Given the description of an element on the screen output the (x, y) to click on. 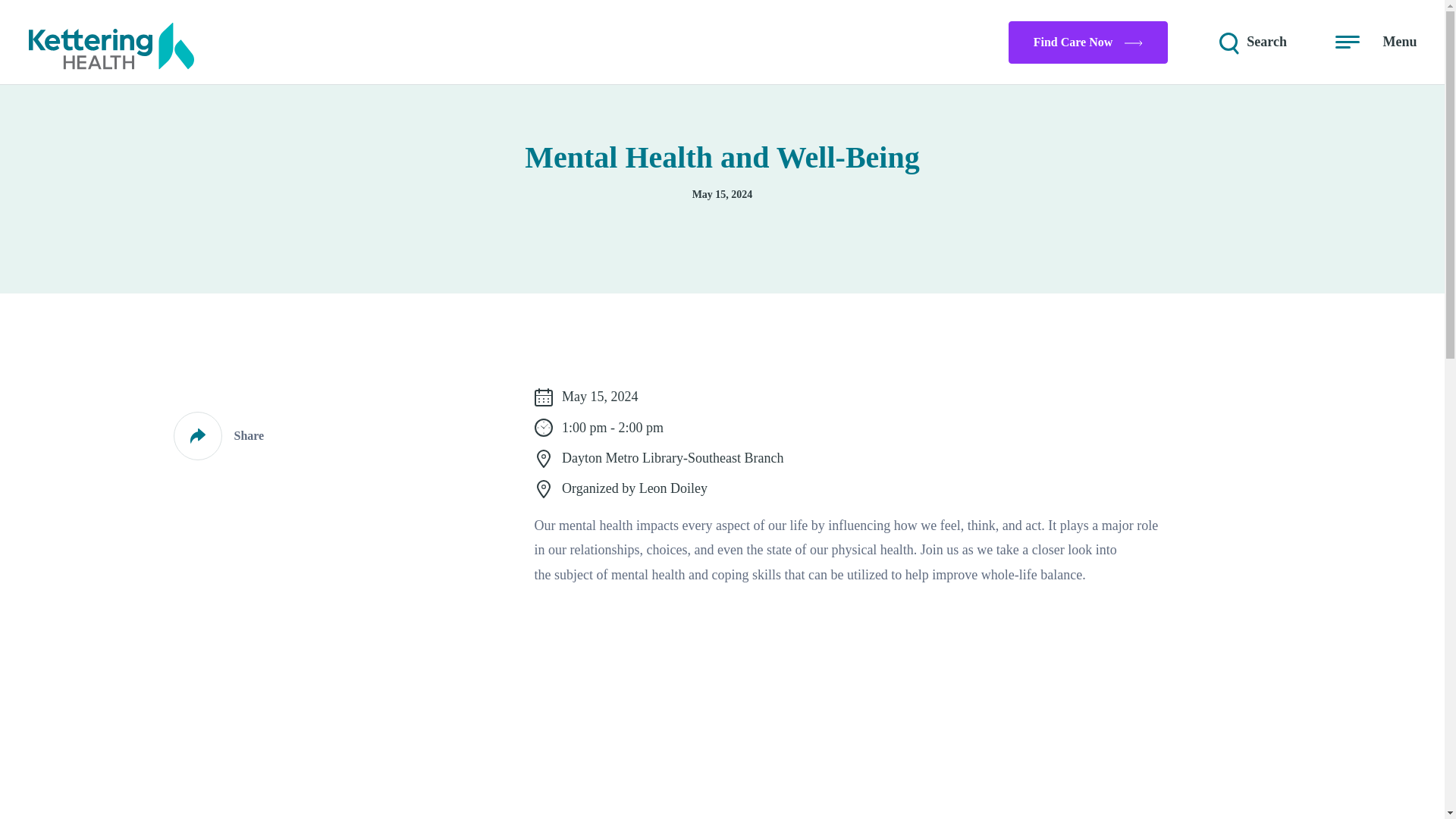
Find Care Now (1089, 42)
Menu (1375, 42)
Search (1251, 42)
